Given the description of an element on the screen output the (x, y) to click on. 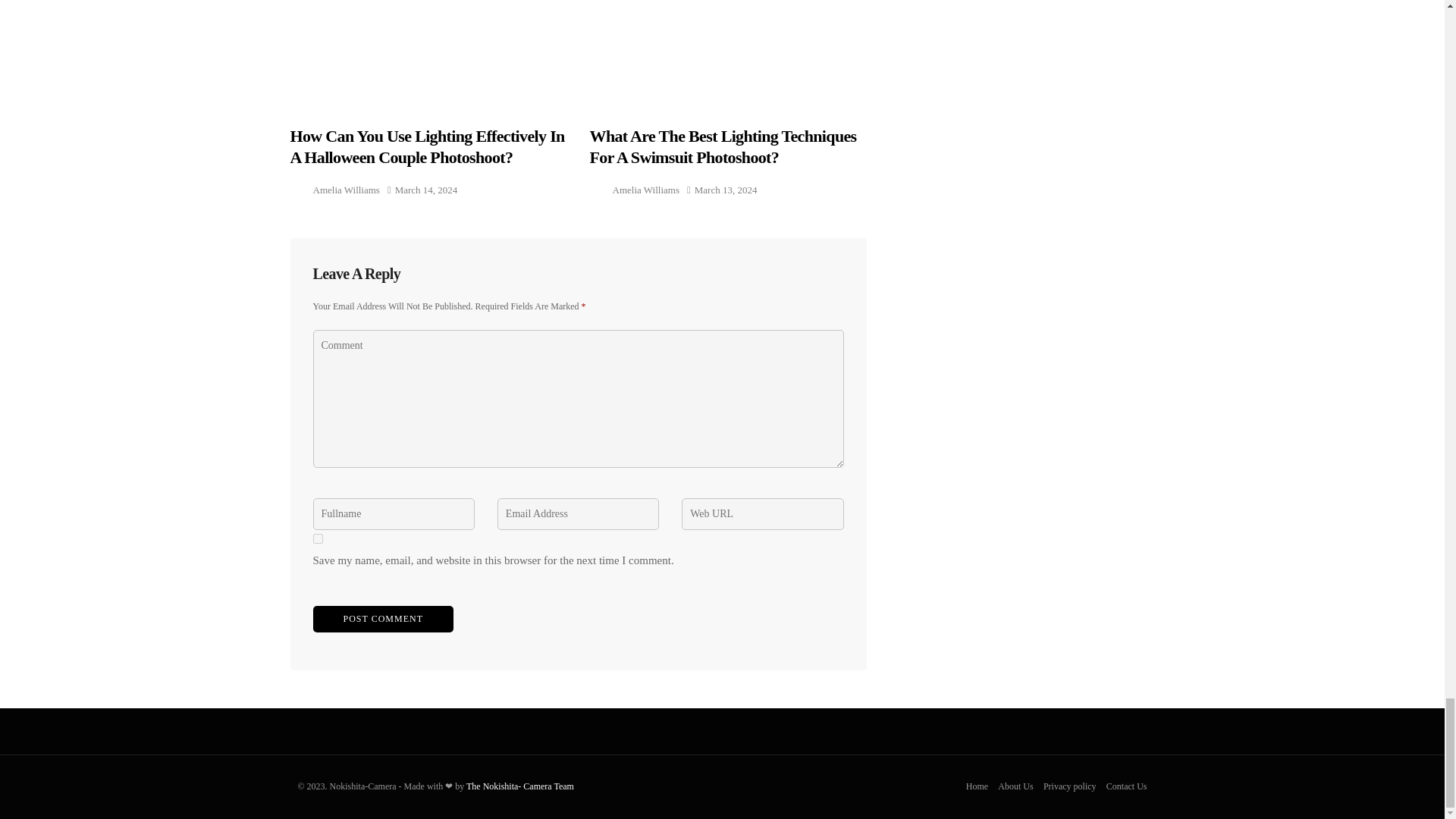
Post Comment (382, 619)
yes (317, 538)
Posts by Amelia Williams (645, 189)
Posts by Amelia Williams (345, 189)
